Given the description of an element on the screen output the (x, y) to click on. 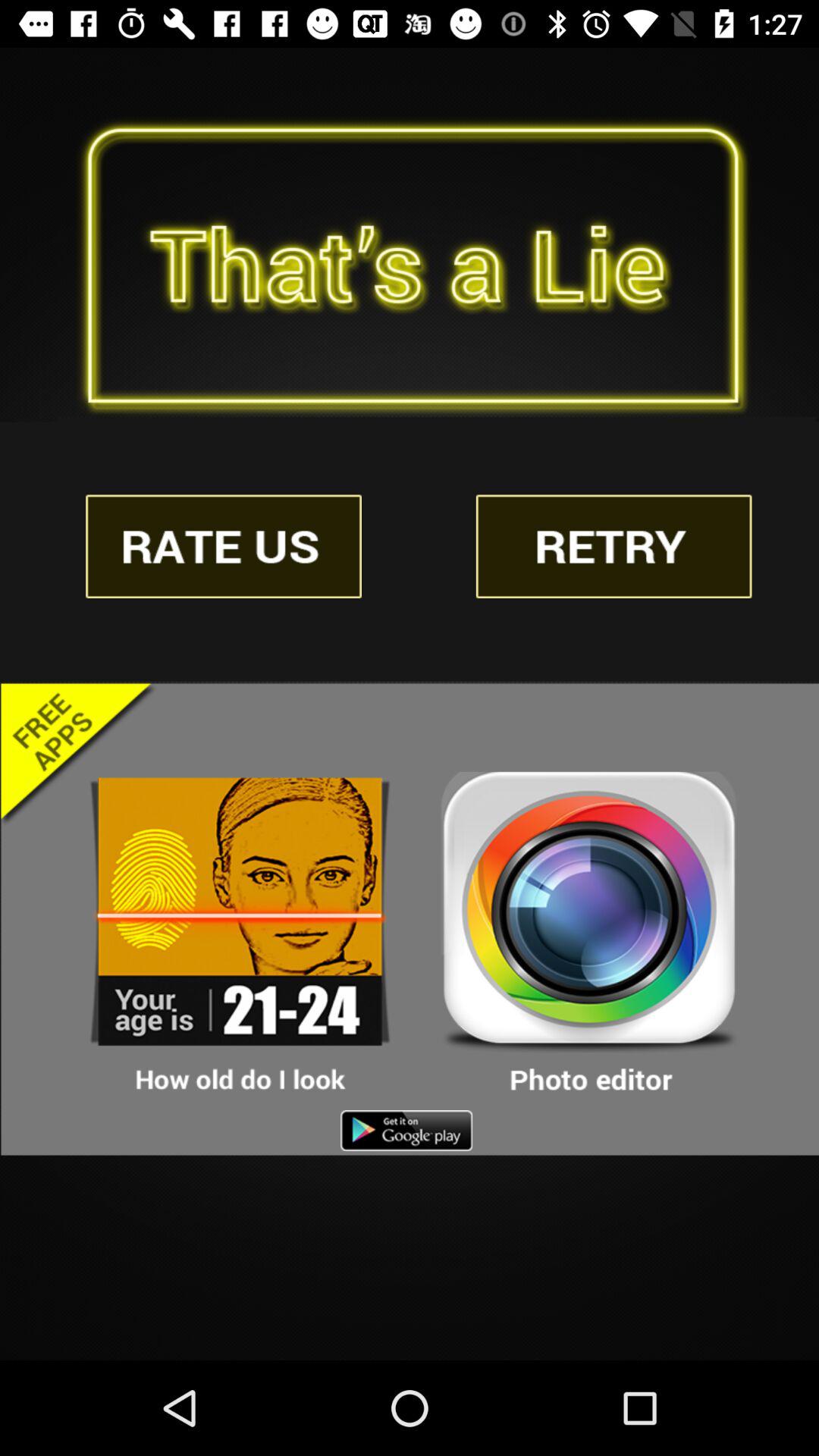
start over (613, 546)
